Given the description of an element on the screen output the (x, y) to click on. 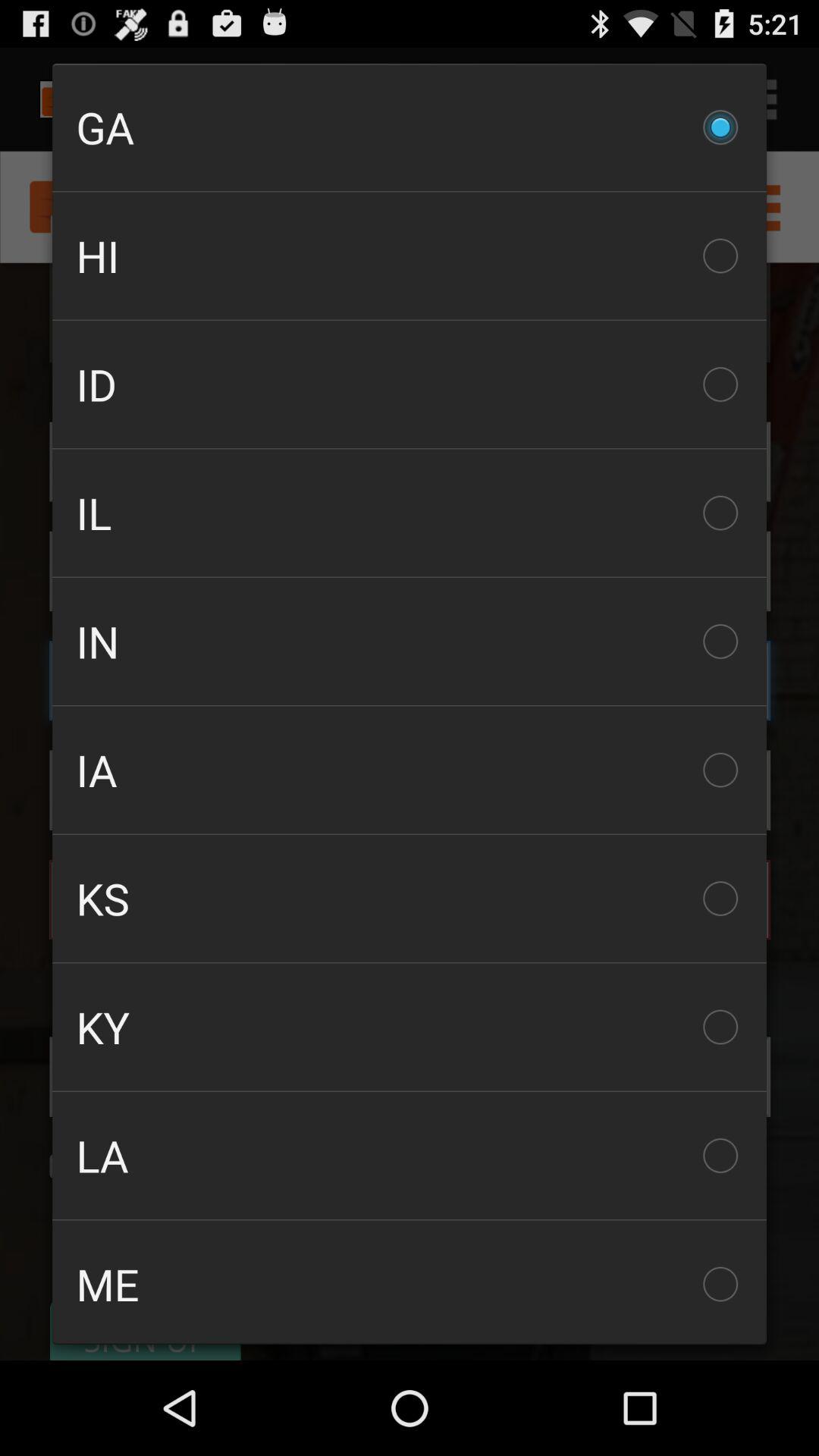
open checkbox above the in checkbox (409, 512)
